Given the description of an element on the screen output the (x, y) to click on. 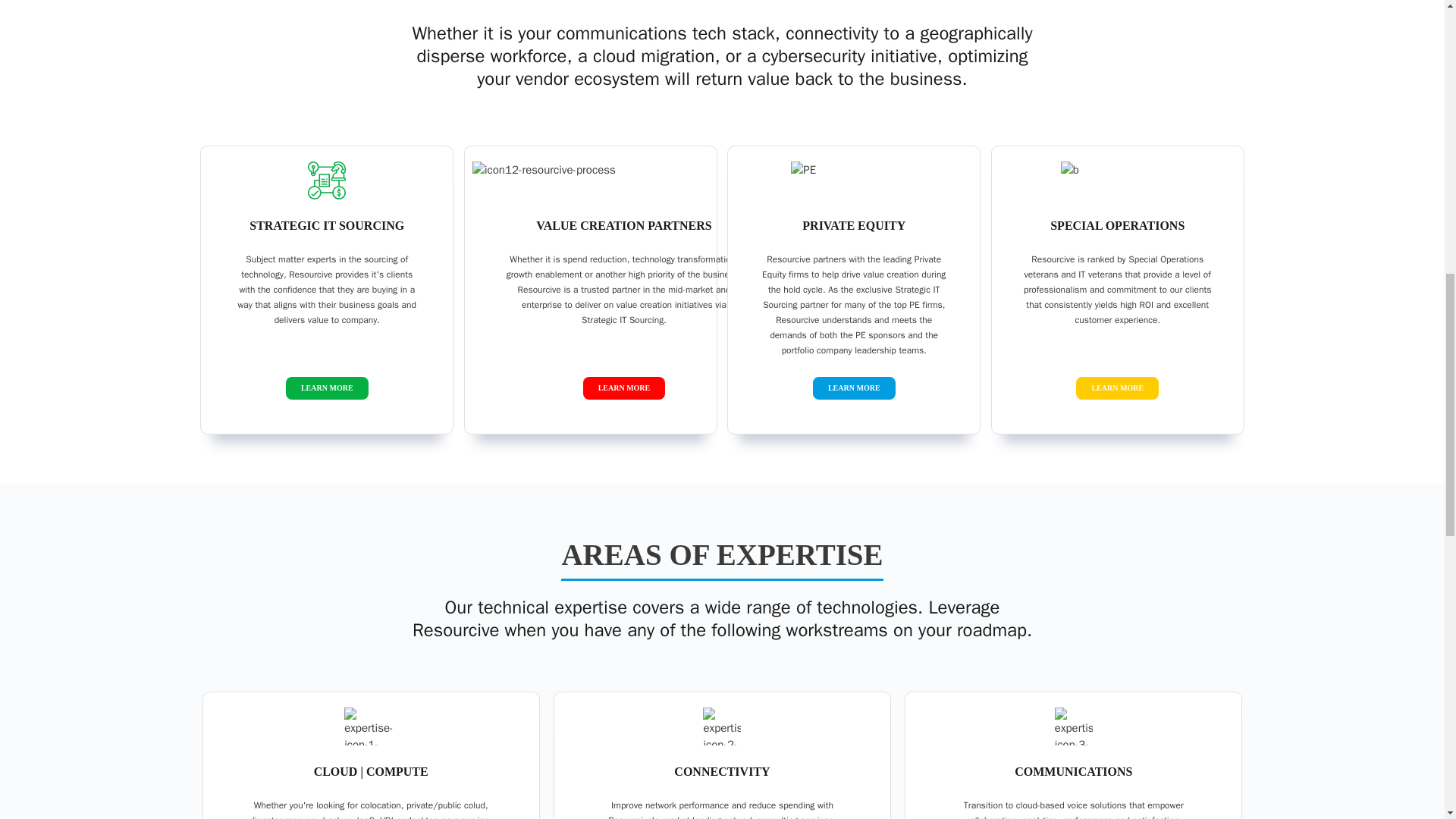
LEARN MORE (1116, 388)
LEARN MORE (854, 388)
LEARN MORE (327, 388)
LEARN MORE (624, 388)
